Given the description of an element on the screen output the (x, y) to click on. 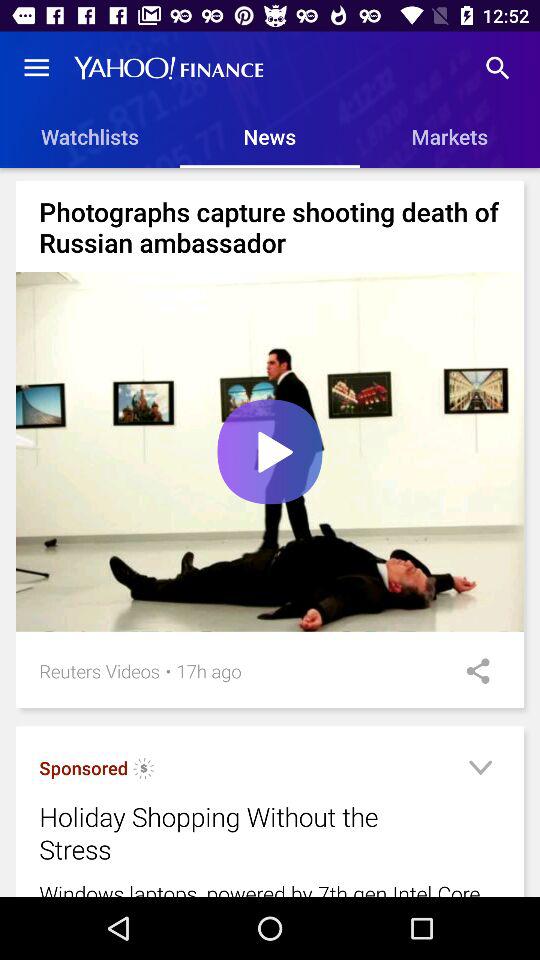
choose sponsored icon (83, 767)
